Given the description of an element on the screen output the (x, y) to click on. 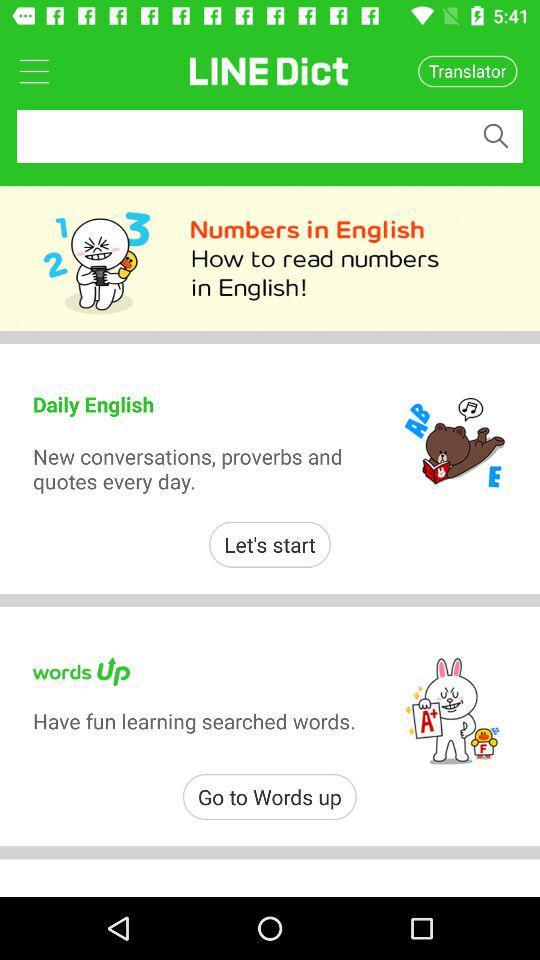
choose item below the daily english icon (197, 468)
